Given the description of an element on the screen output the (x, y) to click on. 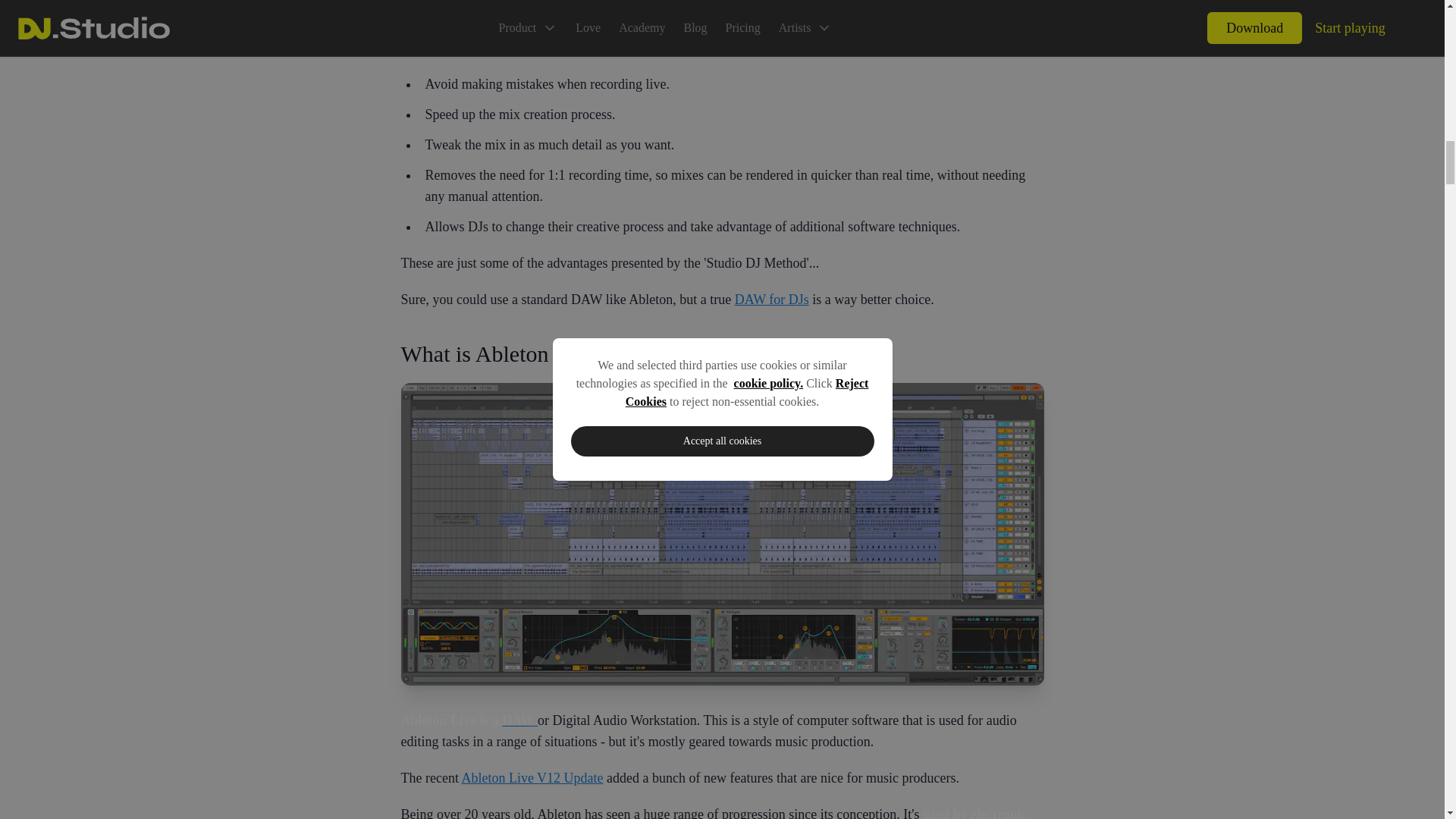
DAW  (520, 720)
DAW for DJs (772, 299)
What is Ableton Live? (721, 353)
Ableton Live V12 Update (531, 777)
